Given the description of an element on the screen output the (x, y) to click on. 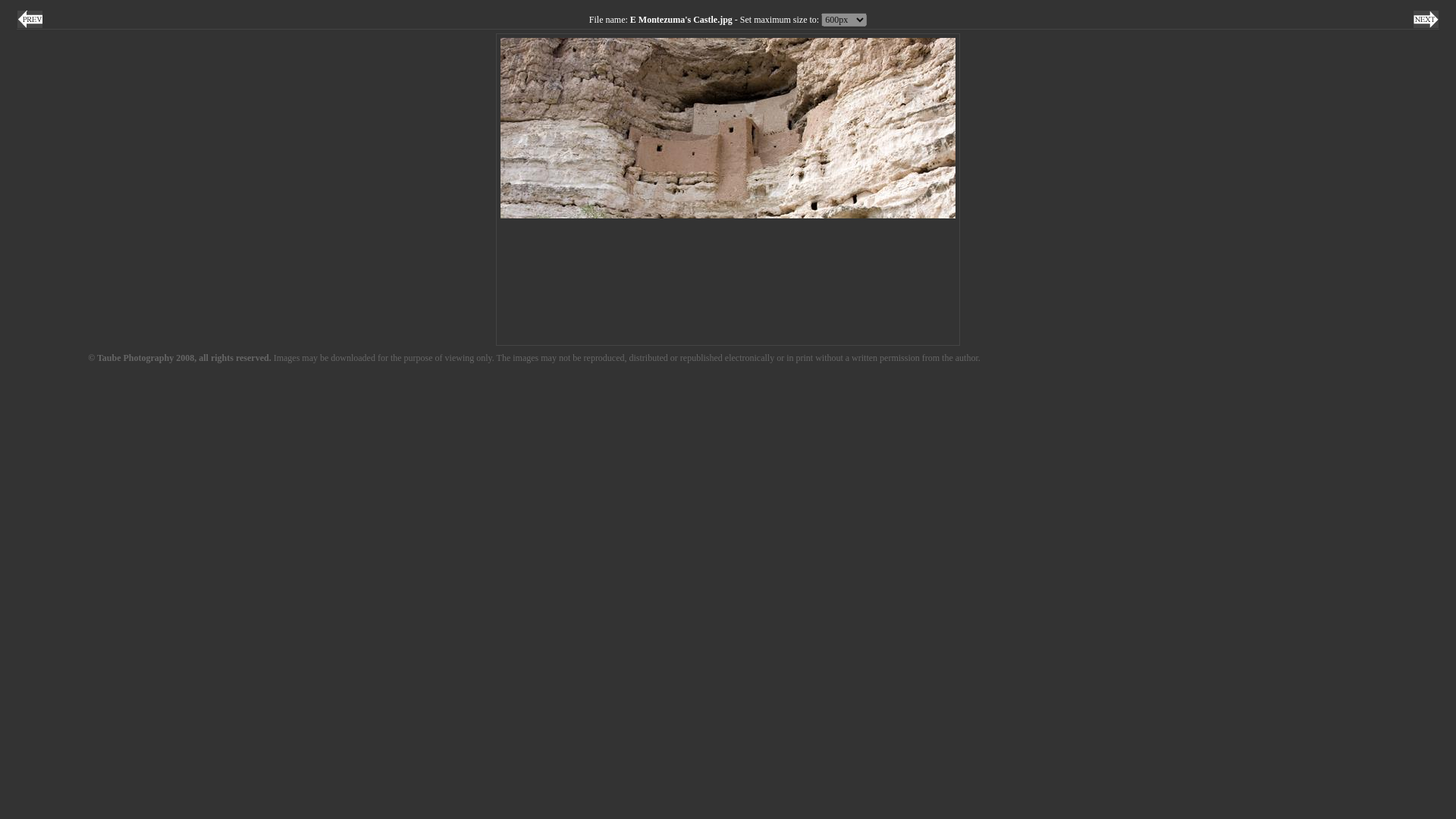
Next picture (1425, 18)
Previous picture (29, 18)
